Given the description of an element on the screen output the (x, y) to click on. 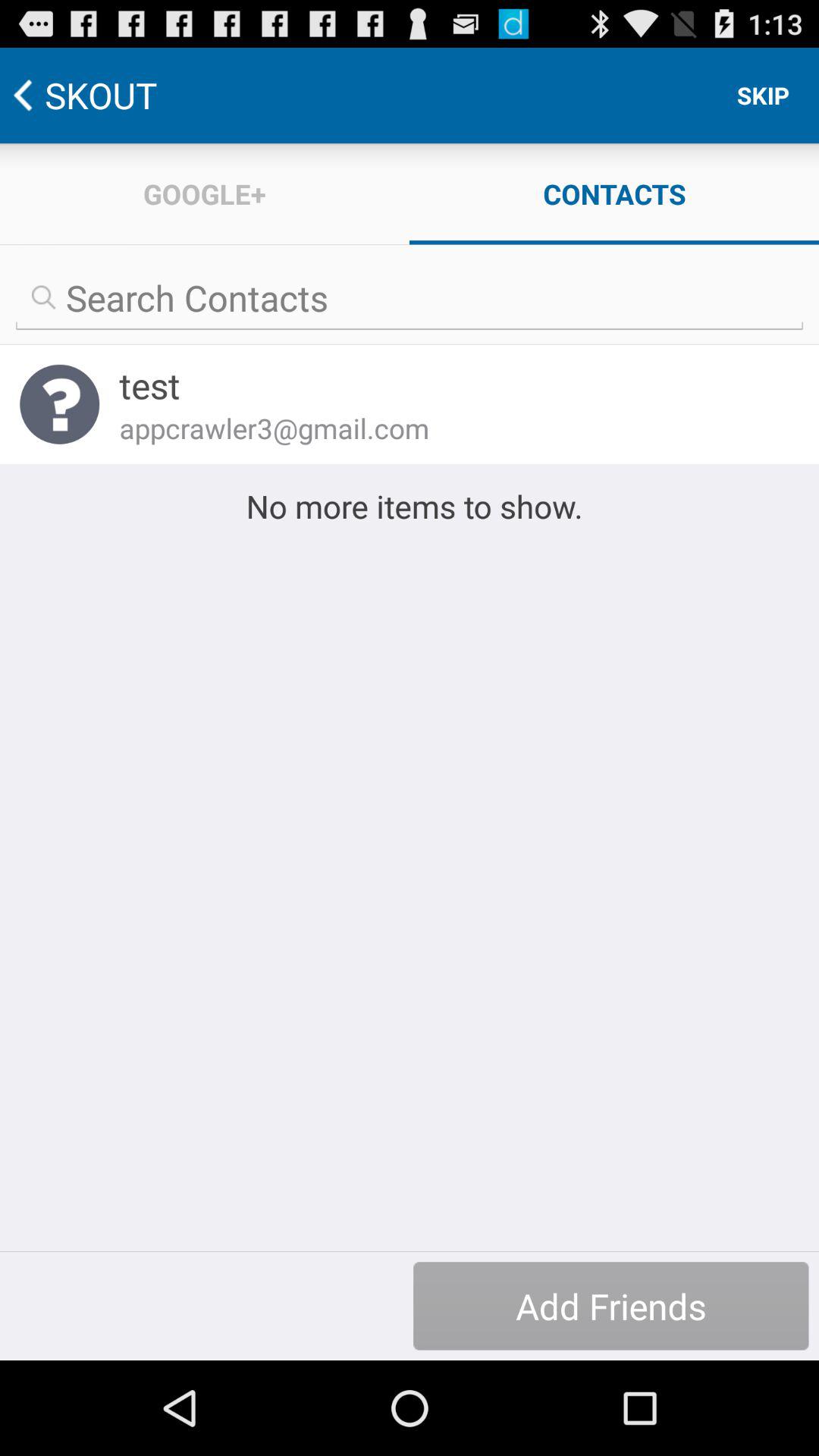
turn on the item above appcrawler3@gmail.com (449, 385)
